Given the description of an element on the screen output the (x, y) to click on. 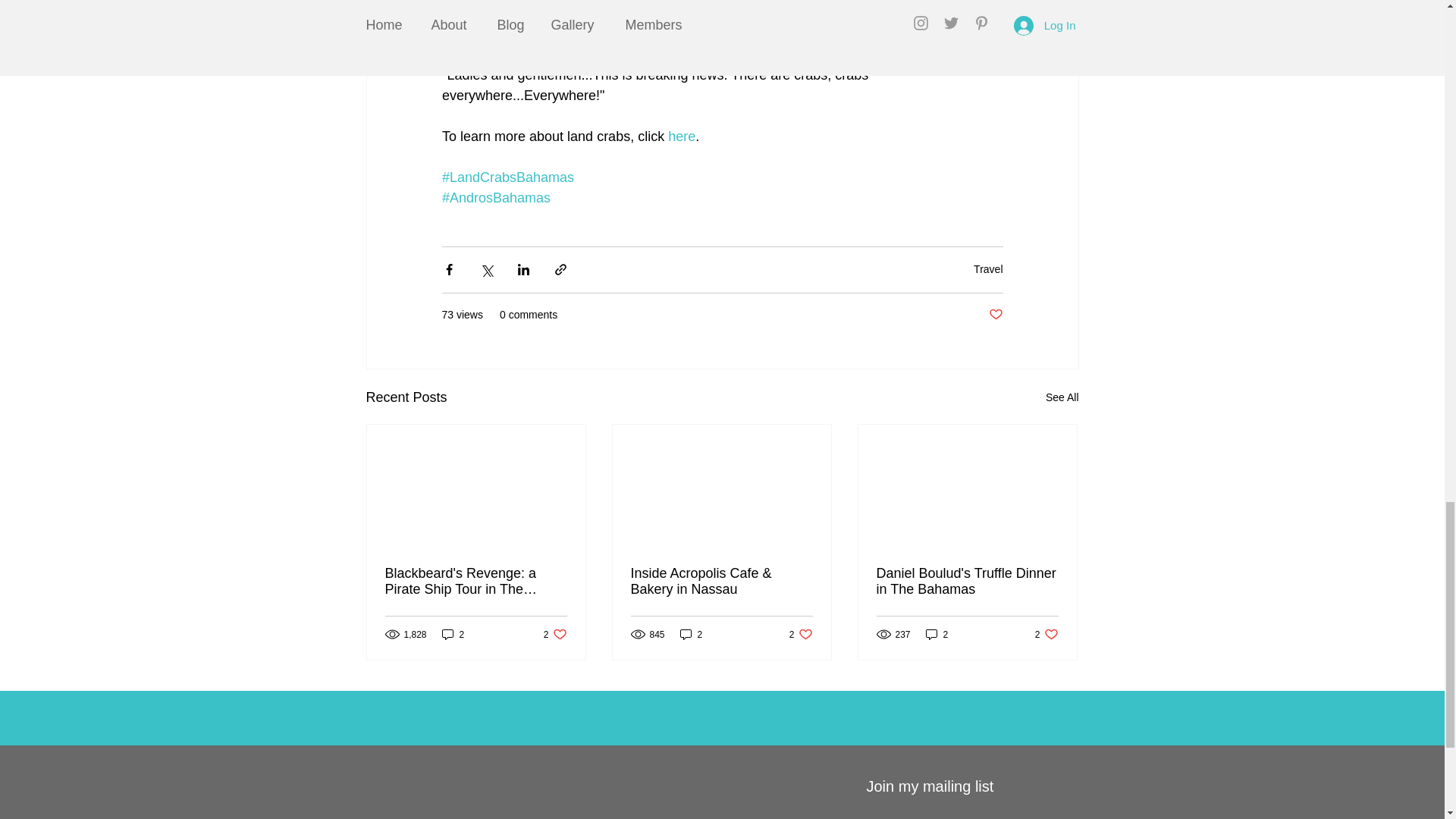
2 (691, 634)
2 (453, 634)
2 (937, 634)
Travel (988, 268)
Blackbeard's Revenge: a Pirate Ship Tour in The Bahamas (476, 581)
video (702, 13)
Daniel Boulud's Truffle Dinner in The Bahamas (555, 634)
Post not marked as liked (800, 634)
